Given the description of an element on the screen output the (x, y) to click on. 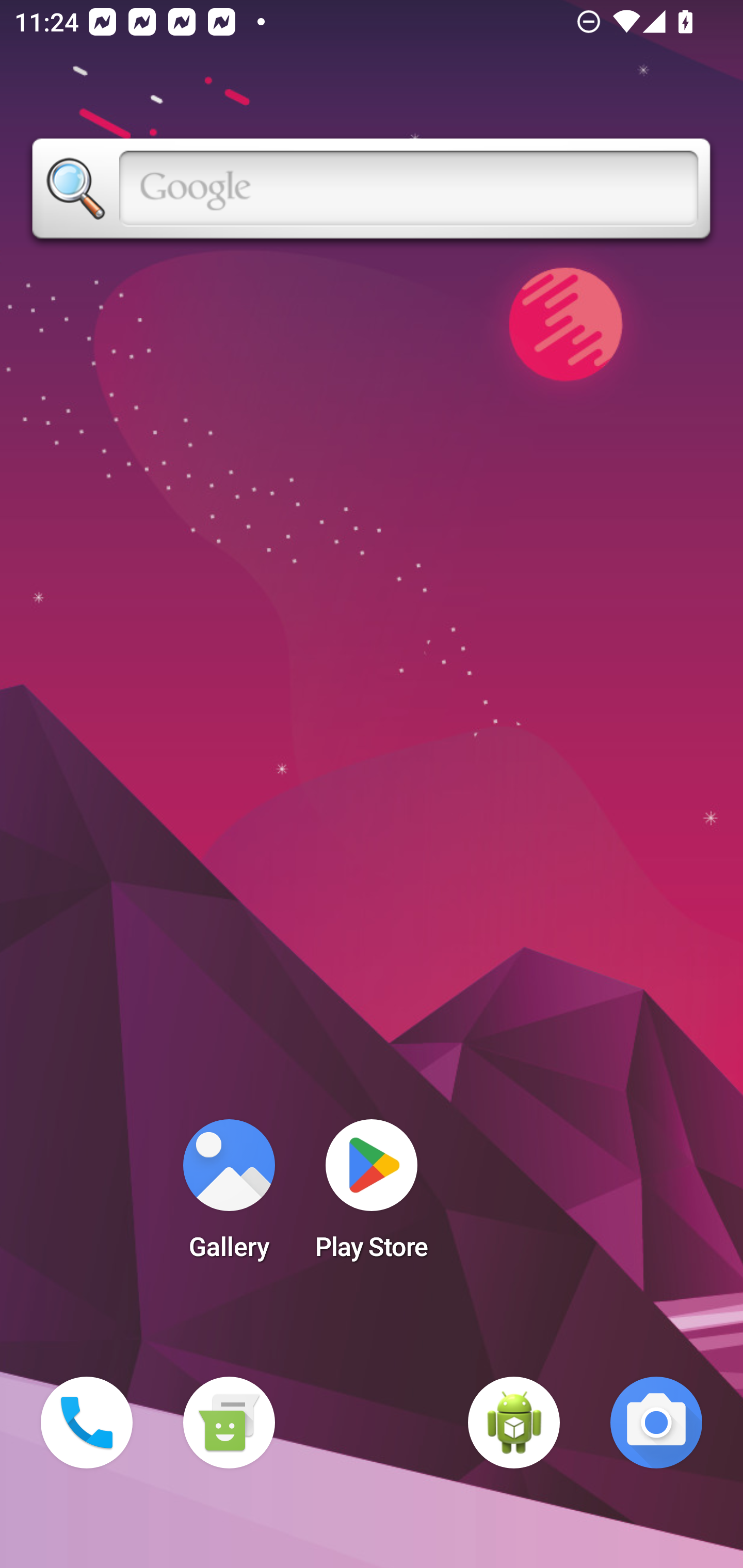
Gallery (228, 1195)
Play Store (371, 1195)
Phone (86, 1422)
Messaging (228, 1422)
WebView Browser Tester (513, 1422)
Camera (656, 1422)
